Given the description of an element on the screen output the (x, y) to click on. 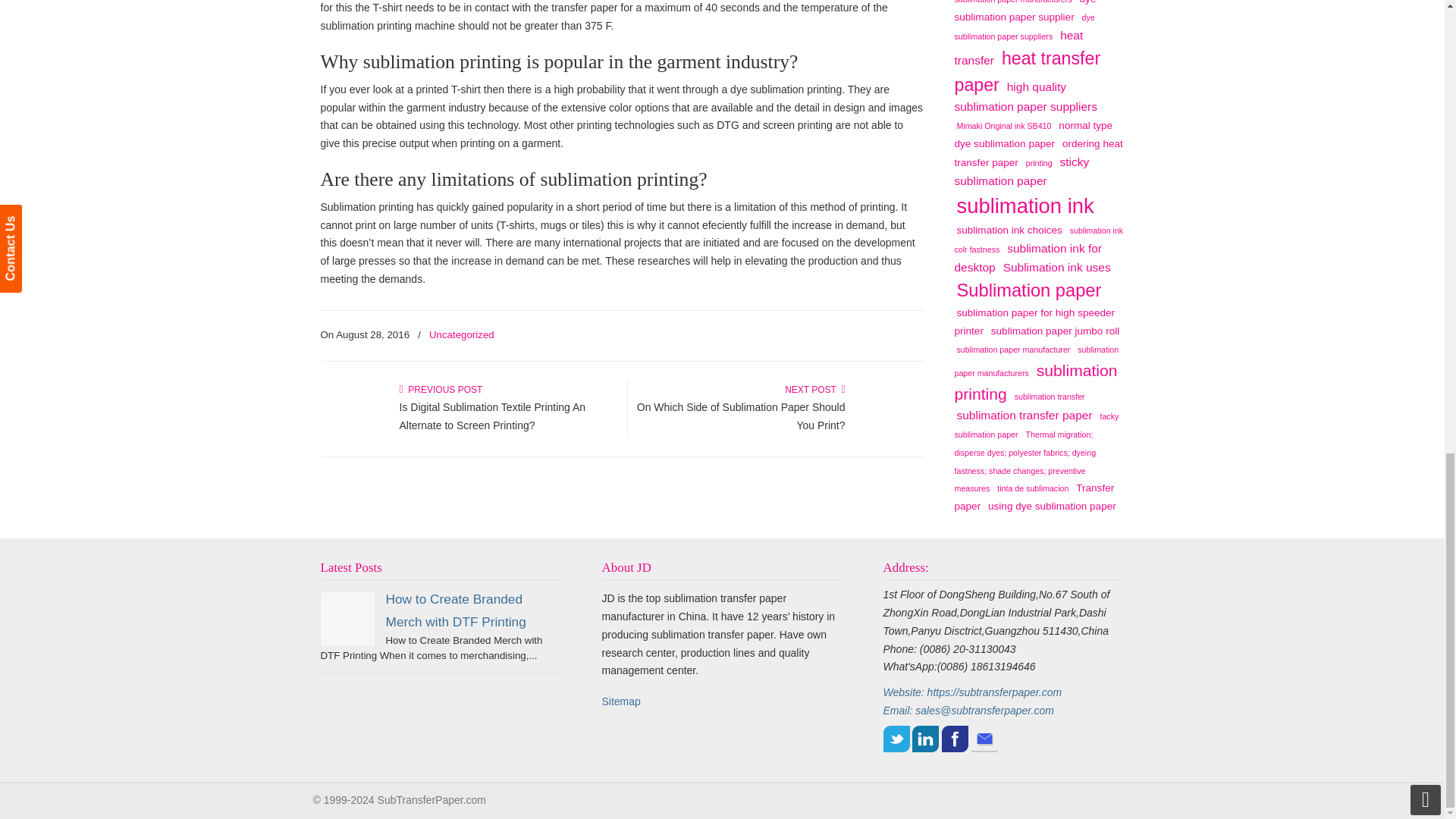
How to Create Branded Merch with DTF Printing (455, 609)
On Which Side of Sublimation Paper Should You Print? (889, 425)
LinkedIn (925, 738)
 PREVIOUS POST (439, 389)
How to Create Branded Merch with DTF Printing (346, 618)
On Which Side of Sublimation Paper Should You Print? (741, 416)
NEXT POST   (814, 389)
Go to next post (814, 389)
Uncategorized (462, 334)
Twitter (895, 738)
On Which Side of Sublimation Paper Should You Print? (741, 416)
Go to previous post (439, 389)
